Given the description of an element on the screen output the (x, y) to click on. 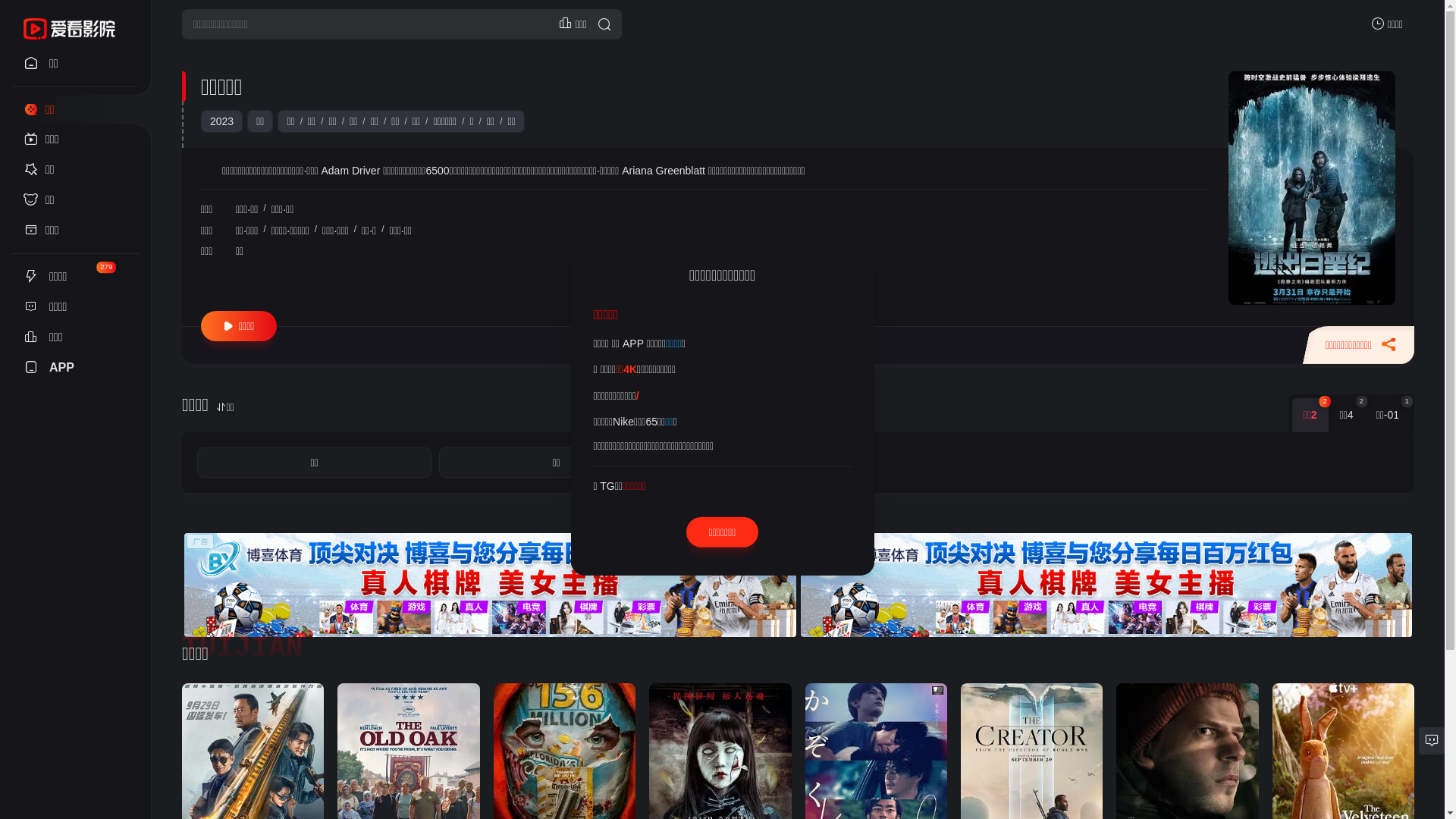
/ Element type: text (637, 395)
2023 Element type: text (221, 121)
APP Element type: text (75, 367)
